Given the description of an element on the screen output the (x, y) to click on. 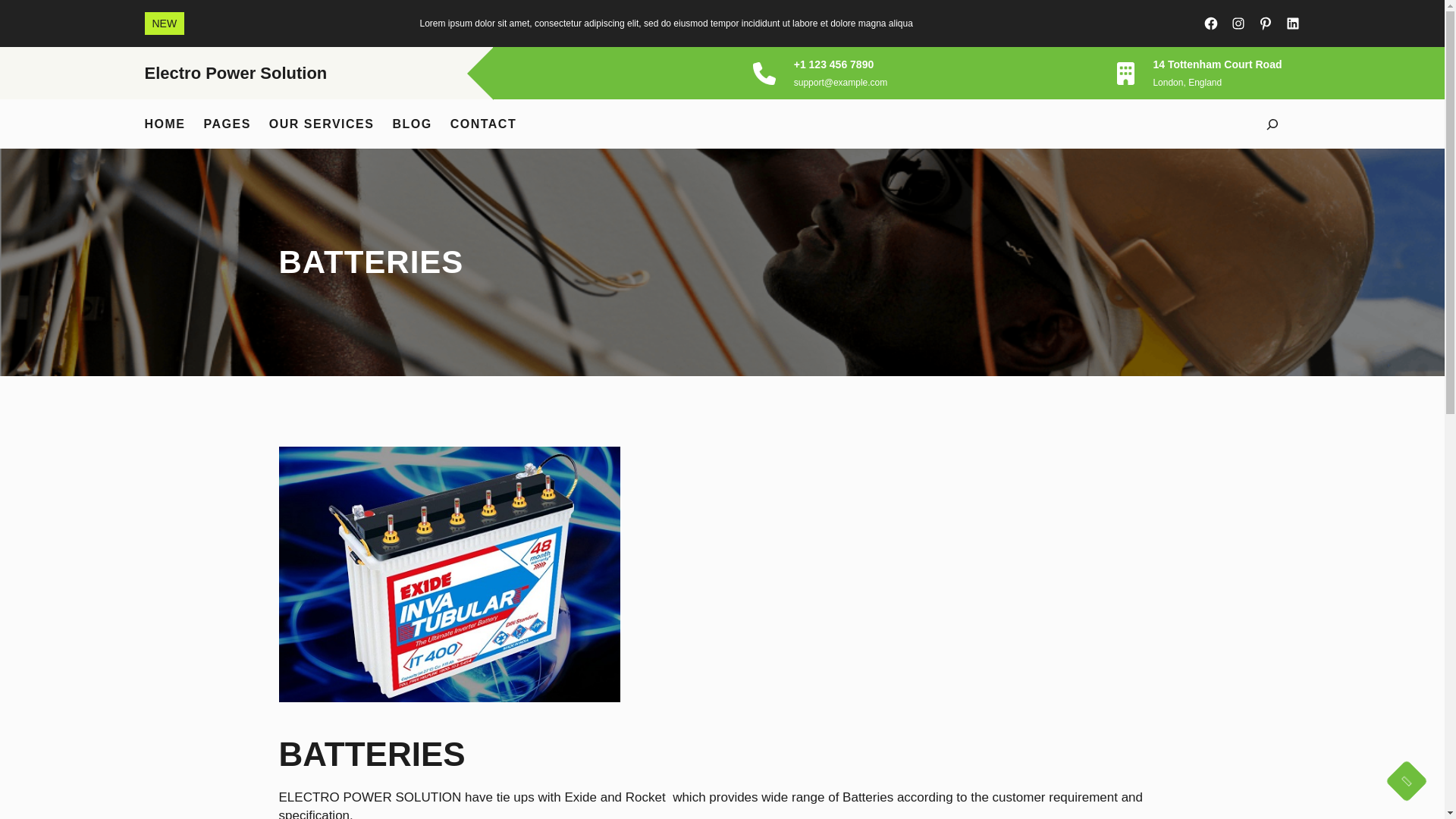
OUR SERVICES (321, 124)
Instagram (1237, 23)
BLOG (410, 124)
HOME (164, 124)
LinkedIn (1292, 23)
CONTACT (482, 124)
Pinterest (1264, 23)
Electro Power Solution (235, 72)
PAGES (226, 124)
Facebook (1209, 23)
